Given the description of an element on the screen output the (x, y) to click on. 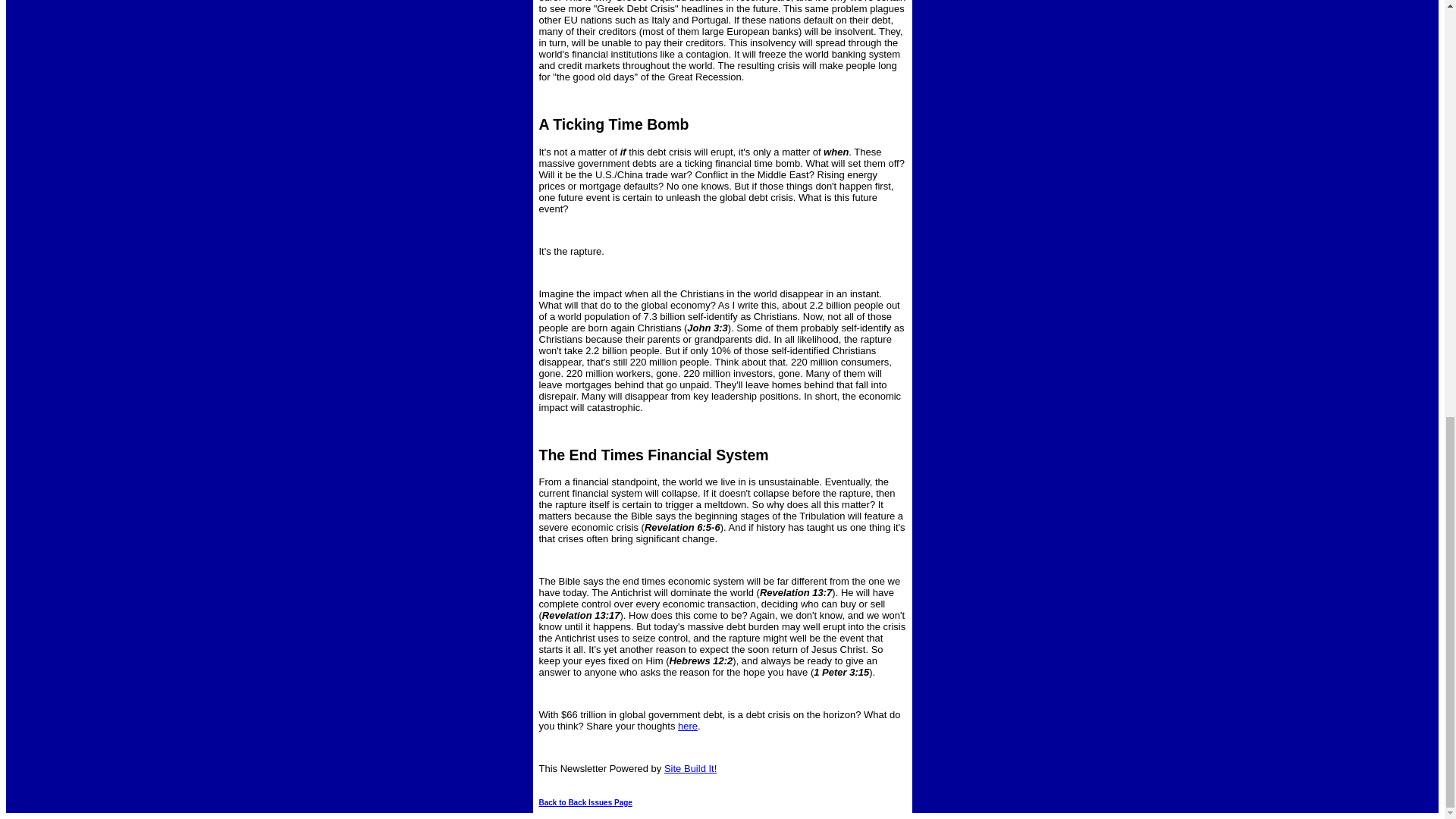
here (687, 726)
Back to Back Issues Page (584, 802)
Site Build It! (689, 767)
